Given the description of an element on the screen output the (x, y) to click on. 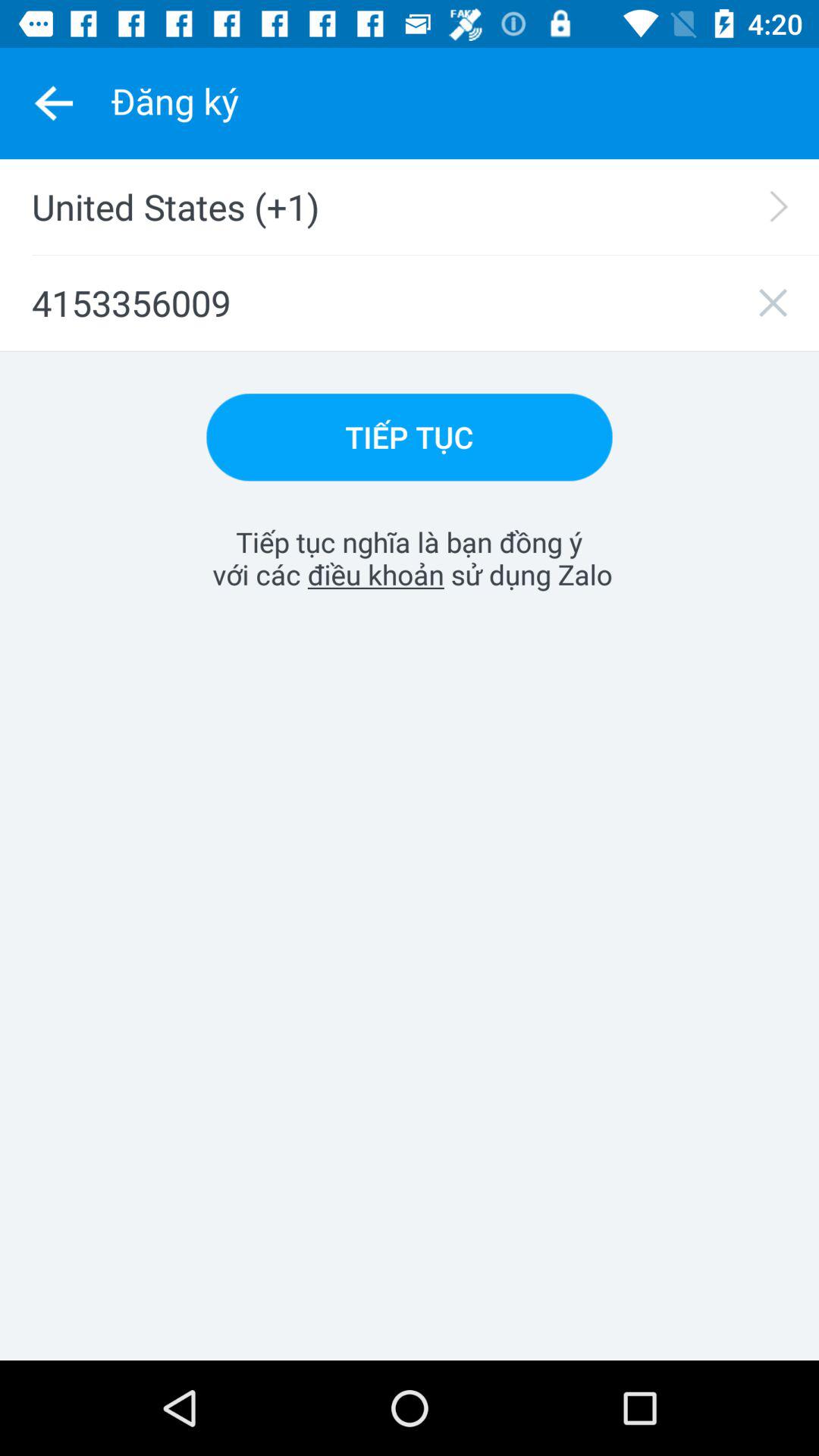
jump until the 4153356009 item (409, 302)
